Given the description of an element on the screen output the (x, y) to click on. 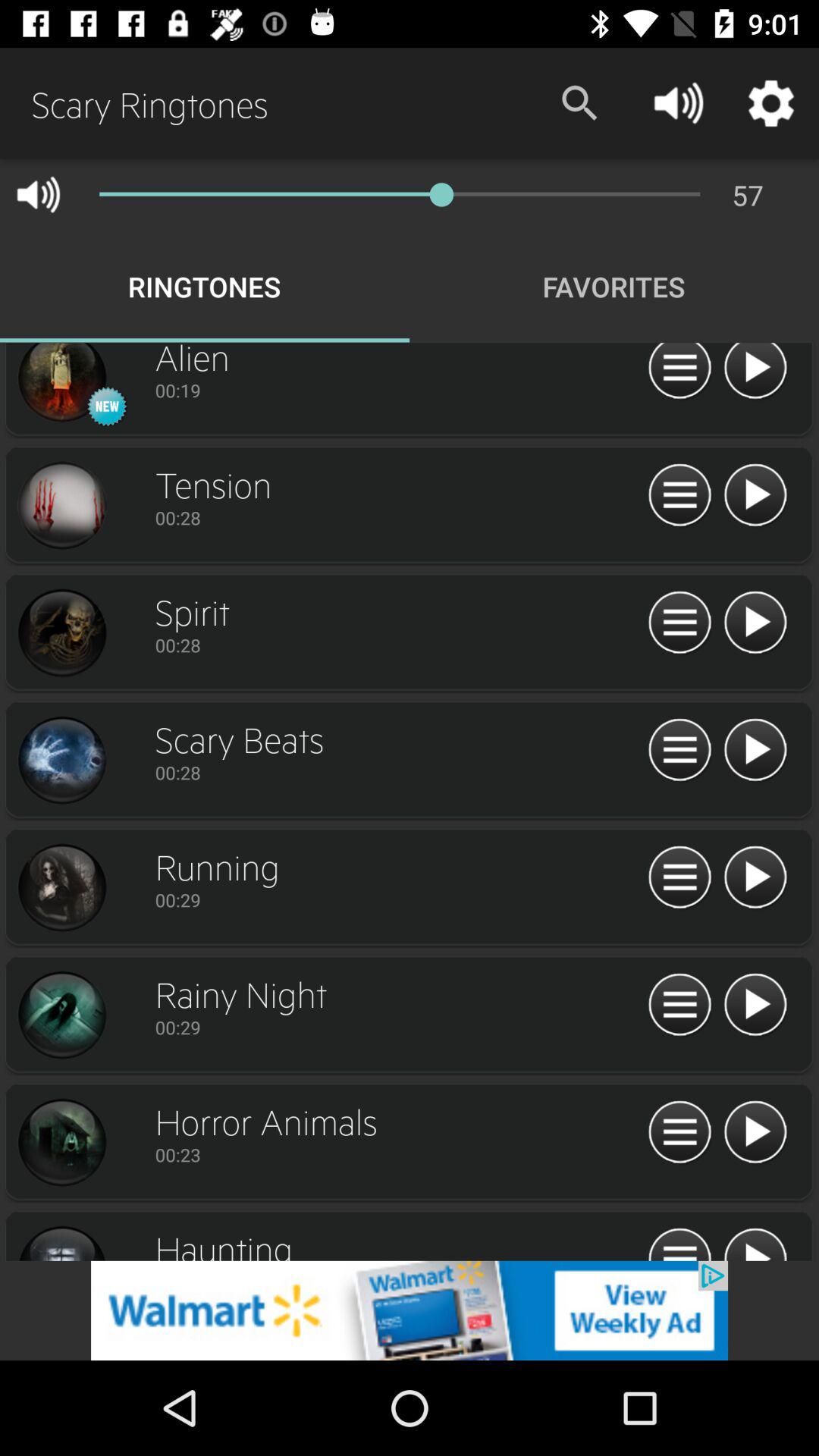
screenshot icon for ringtone (61, 760)
